Given the description of an element on the screen output the (x, y) to click on. 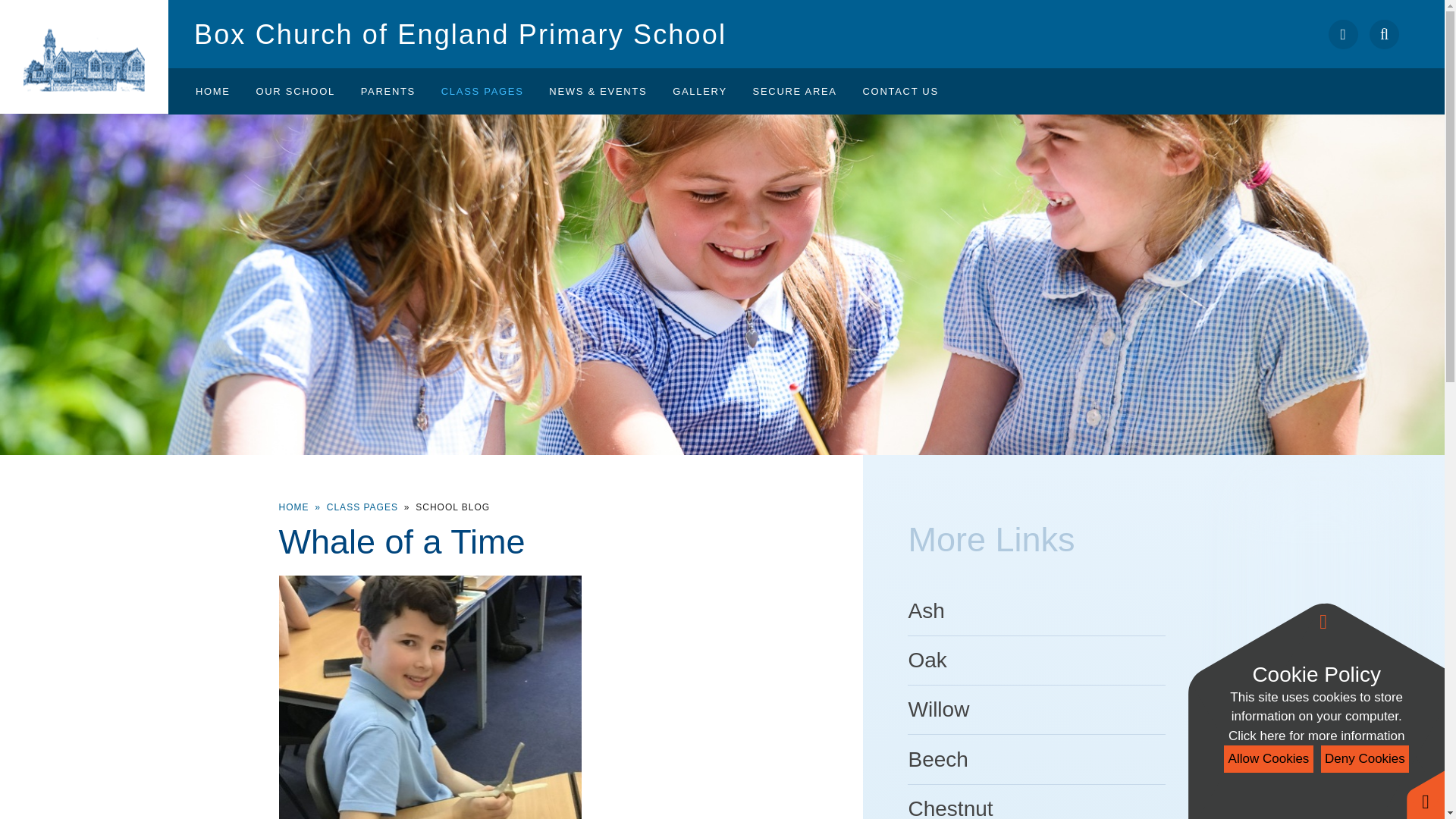
PARENTS (387, 90)
OUR SCHOOL (294, 90)
Deny Cookies (1364, 759)
See cookie policy (1316, 736)
HOME (212, 90)
Allow Cookies (1268, 759)
